Given the description of an element on the screen output the (x, y) to click on. 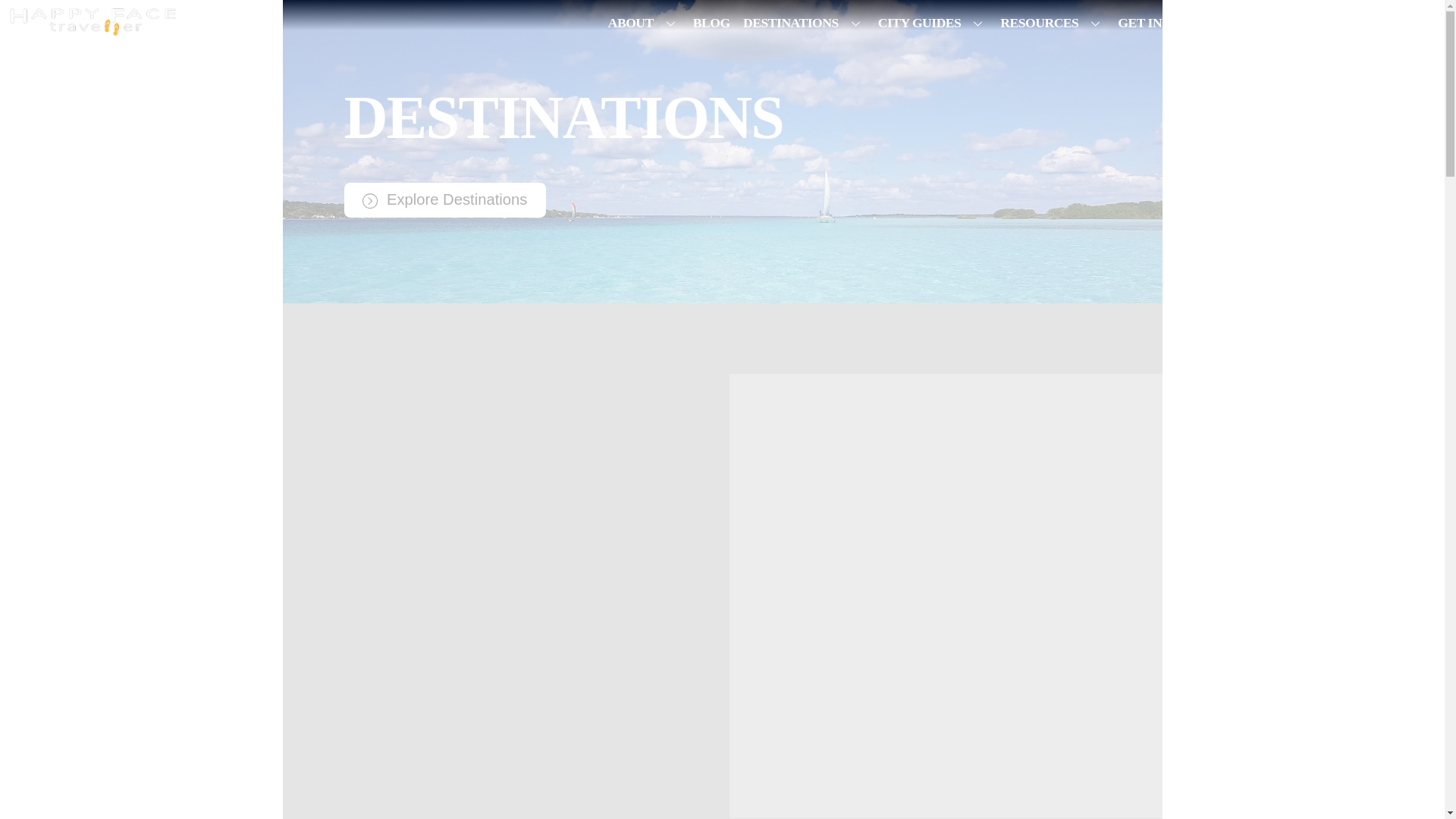
CITY GUIDES (931, 22)
DESTINATIONS (803, 22)
RESOURCES (1052, 22)
BLOG (711, 22)
ABOUT (643, 22)
Happy Face Traveller (93, 27)
